Given the description of an element on the screen output the (x, y) to click on. 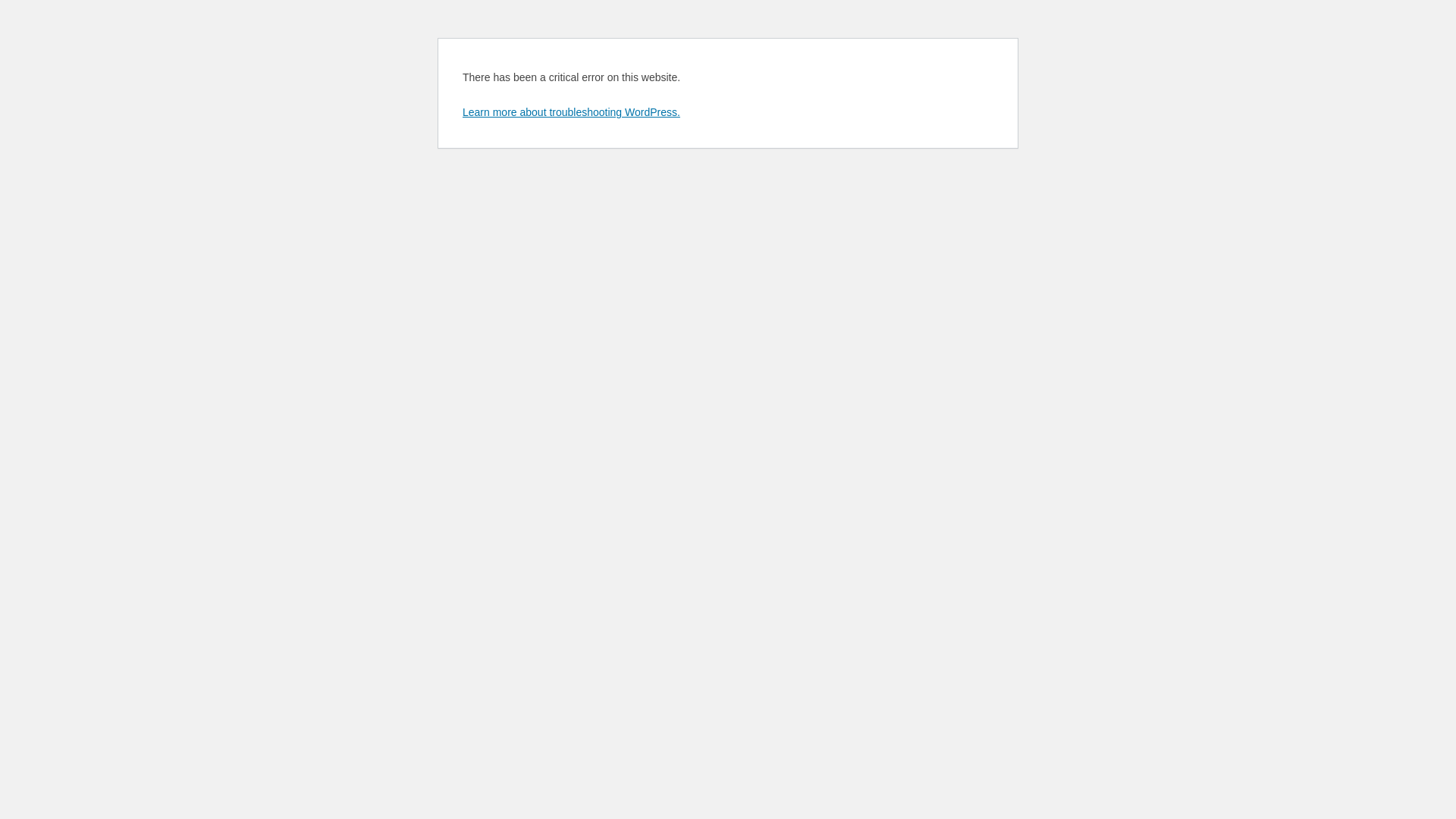
Learn more about troubleshooting WordPress. Element type: text (571, 112)
